Given the description of an element on the screen output the (x, y) to click on. 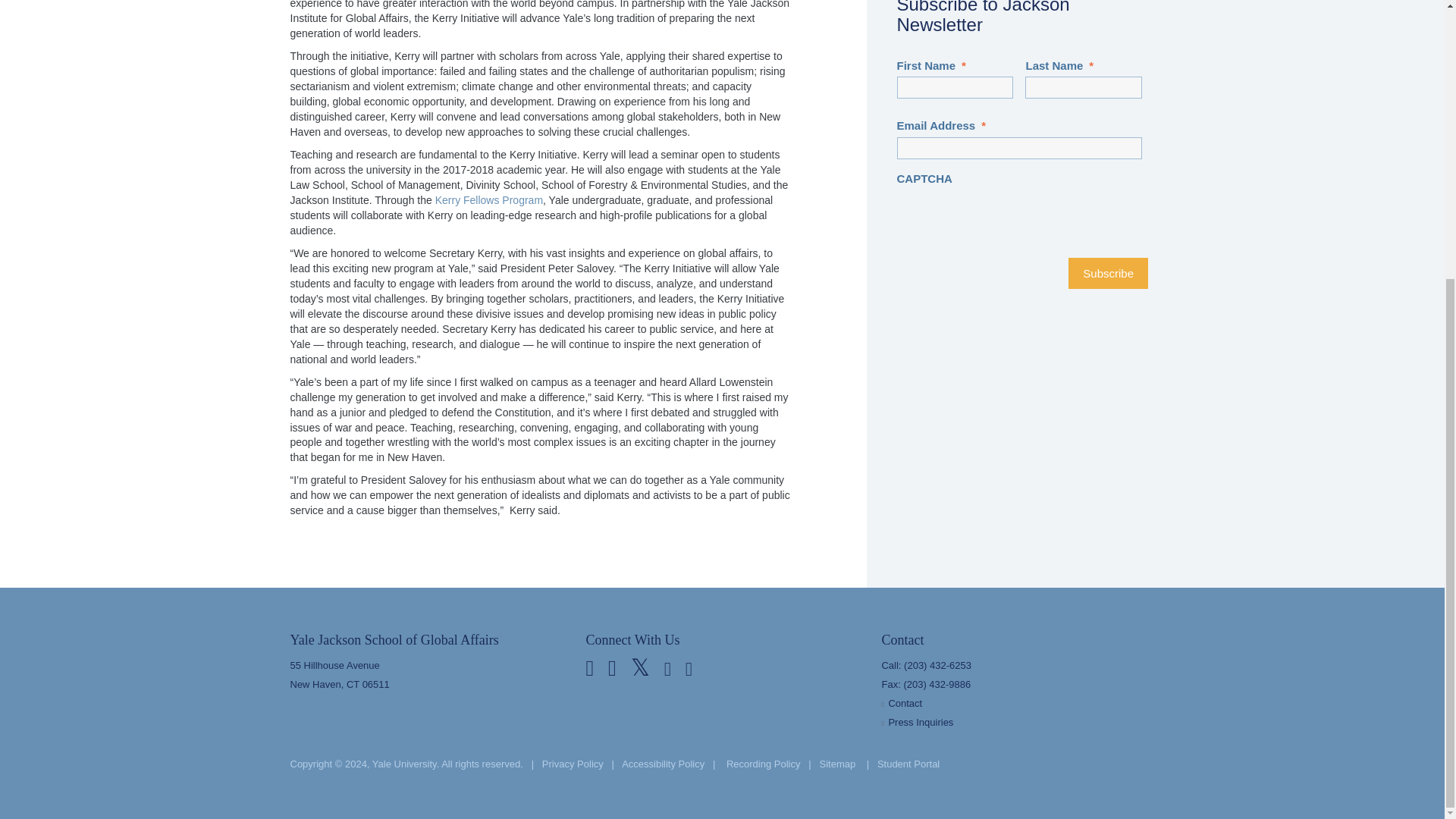
Fax (936, 684)
Press Inquiries (920, 722)
Google Maps (425, 674)
Contact Us (904, 703)
Call (937, 665)
Yale Privacy Policy (572, 763)
